Given the description of an element on the screen output the (x, y) to click on. 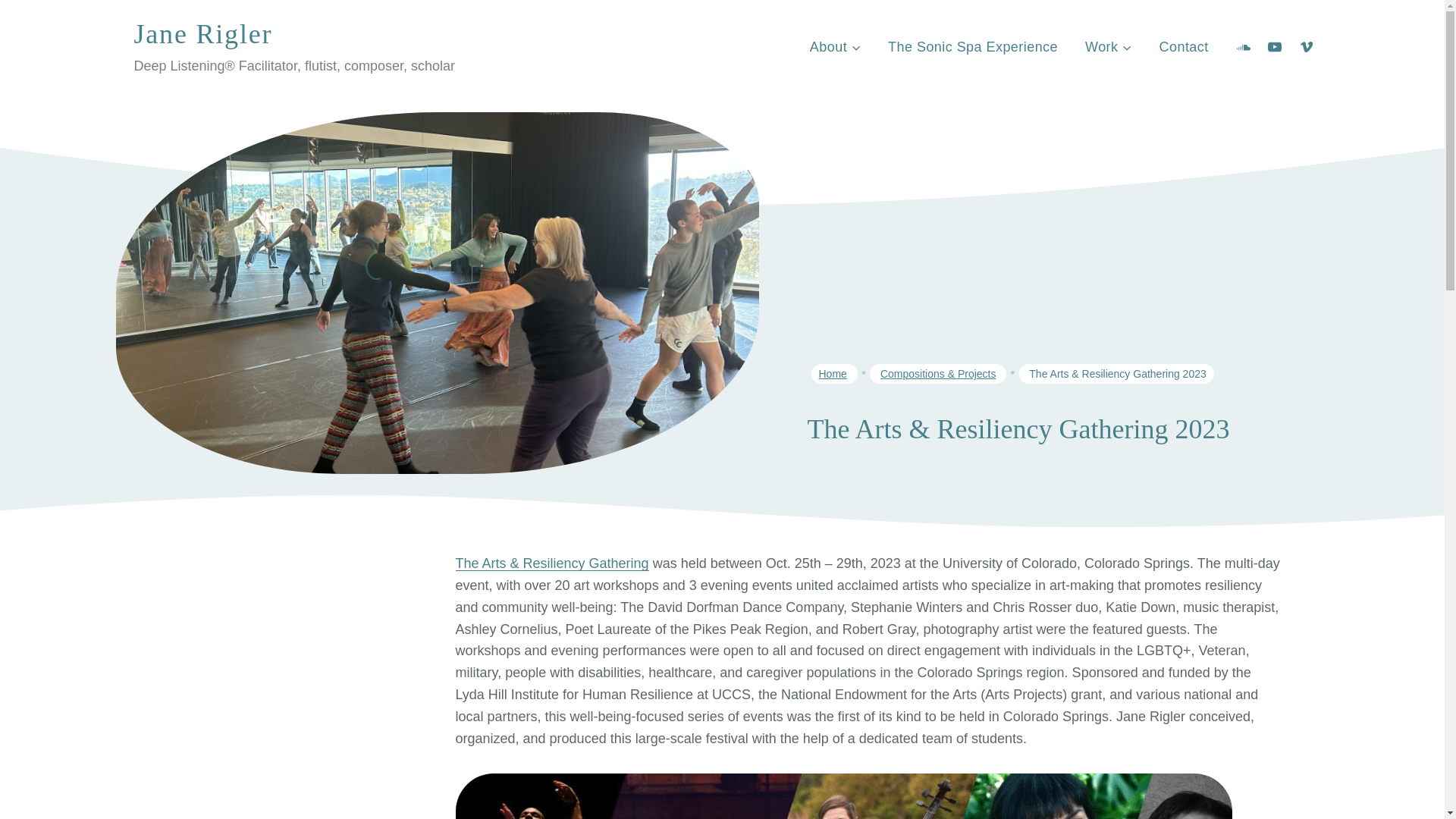
Home (832, 373)
Contact (1184, 47)
The Sonic Spa Experience (973, 47)
Work (1107, 47)
About (835, 47)
Home (832, 373)
